Given the description of an element on the screen output the (x, y) to click on. 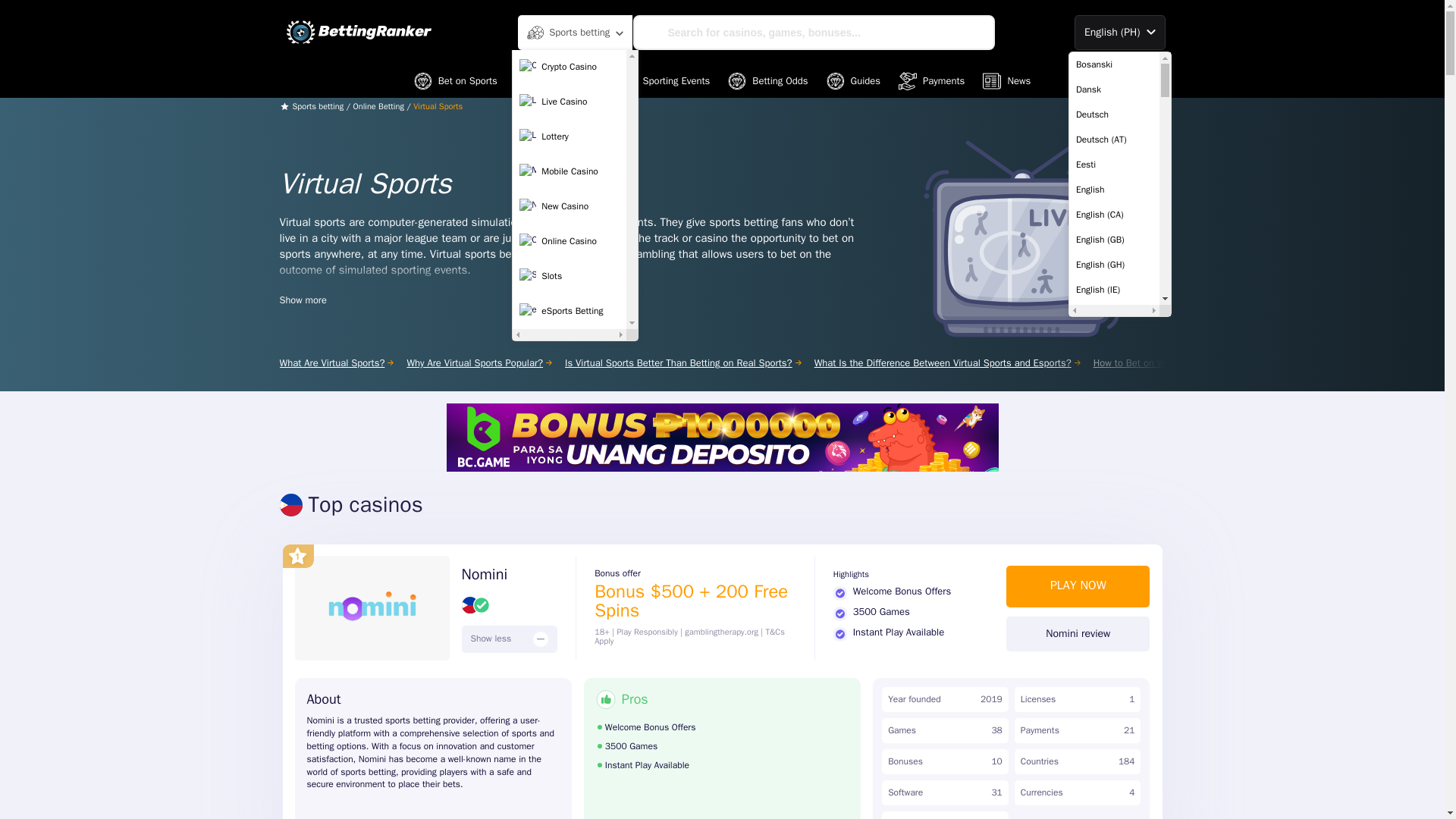
Mobile Casino (569, 172)
Online Casino (569, 241)
Crypto Casino (569, 67)
eSports Betting (569, 311)
Slots (569, 276)
Bosanski (1113, 63)
English (1113, 189)
Lottery (569, 136)
Deutsch (1113, 113)
Dansk (1113, 89)
Eesti (1113, 163)
New Casino (569, 206)
Live Casino (569, 102)
